Given the description of an element on the screen output the (x, y) to click on. 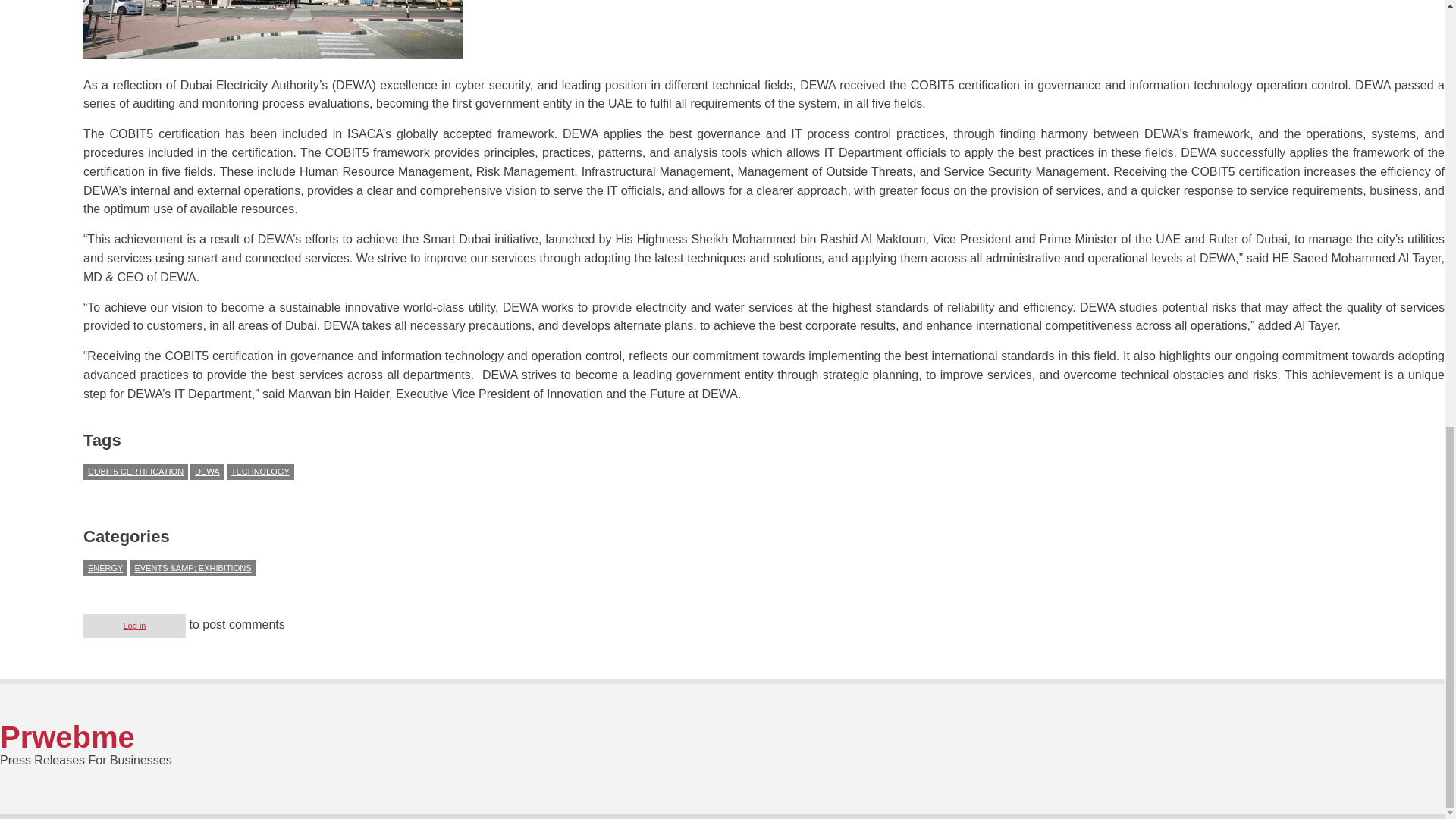
Home (67, 736)
COBIT5 CERTIFICATION (134, 471)
DEWA (207, 471)
